Given the description of an element on the screen output the (x, y) to click on. 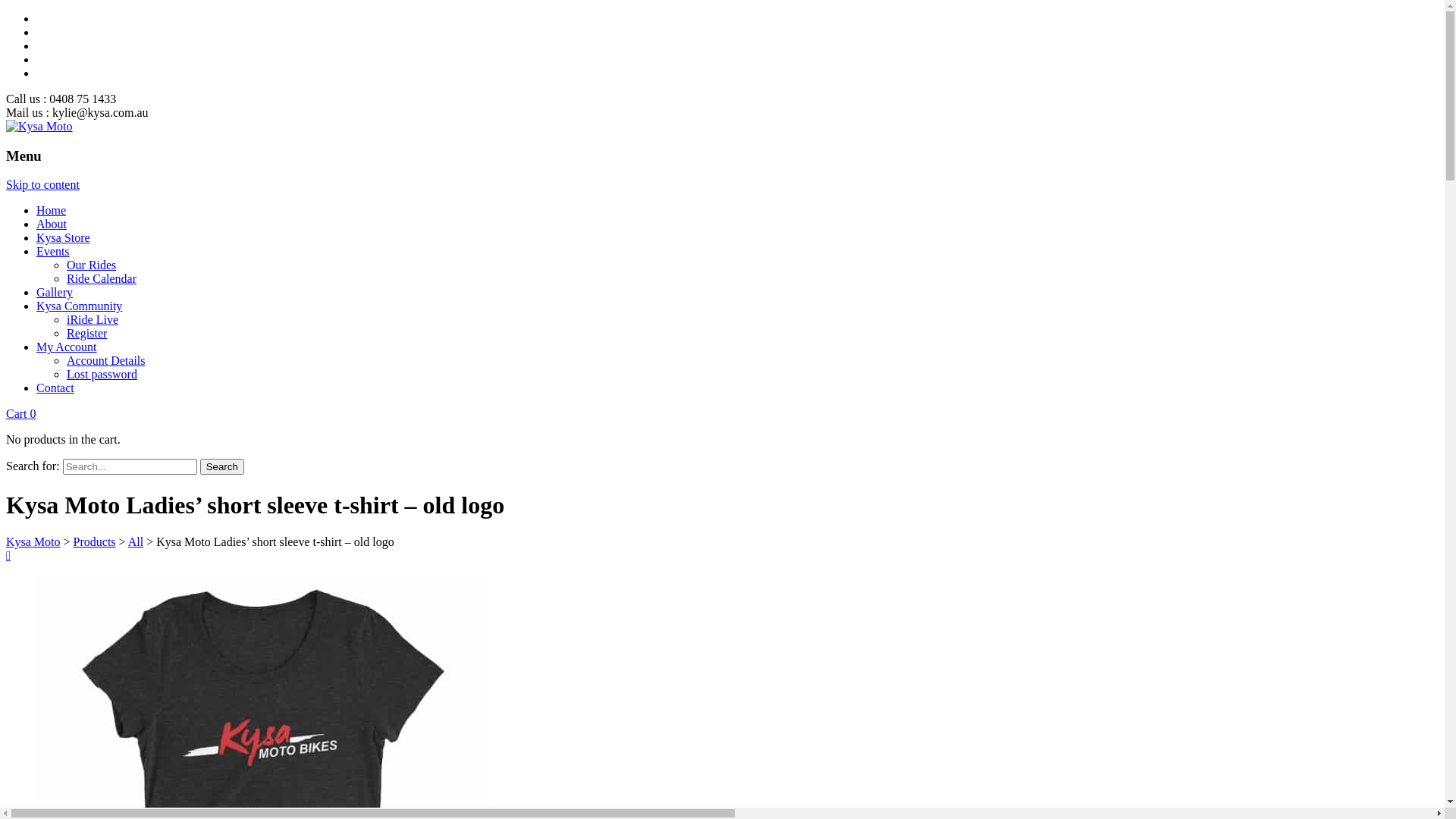
Home Element type: text (50, 209)
Search Element type: text (222, 466)
Contact Element type: text (55, 387)
About Element type: text (51, 223)
Ride Calendar Element type: text (101, 278)
Kysa Store Element type: text (63, 237)
Kysa Moto Element type: hover (39, 125)
Kysa Community Element type: text (79, 305)
iRide Live Element type: text (92, 319)
Account Details Element type: text (105, 360)
Kysa Moto Element type: text (33, 541)
All Element type: text (135, 541)
Skip to content Element type: text (42, 184)
Cart 0 Element type: text (21, 413)
Gallery Element type: text (54, 291)
Register Element type: text (86, 332)
My Account Element type: text (66, 346)
Products Element type: text (94, 541)
Lost password Element type: text (101, 373)
Events Element type: text (52, 250)
Our Rides Element type: text (91, 264)
Search for: Element type: hover (129, 466)
